Given the description of an element on the screen output the (x, y) to click on. 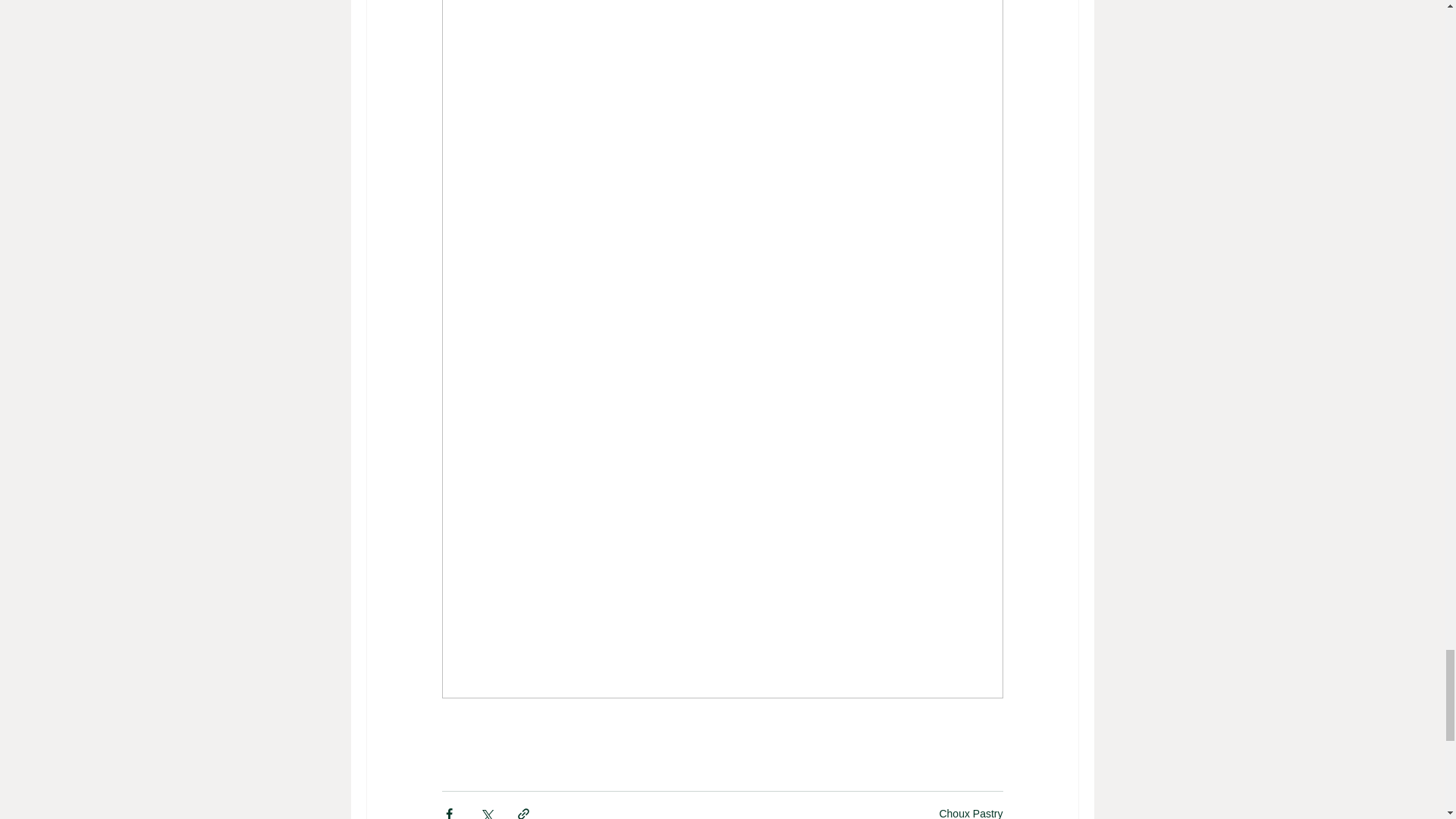
Choux Pastry (971, 813)
